Given the description of an element on the screen output the (x, y) to click on. 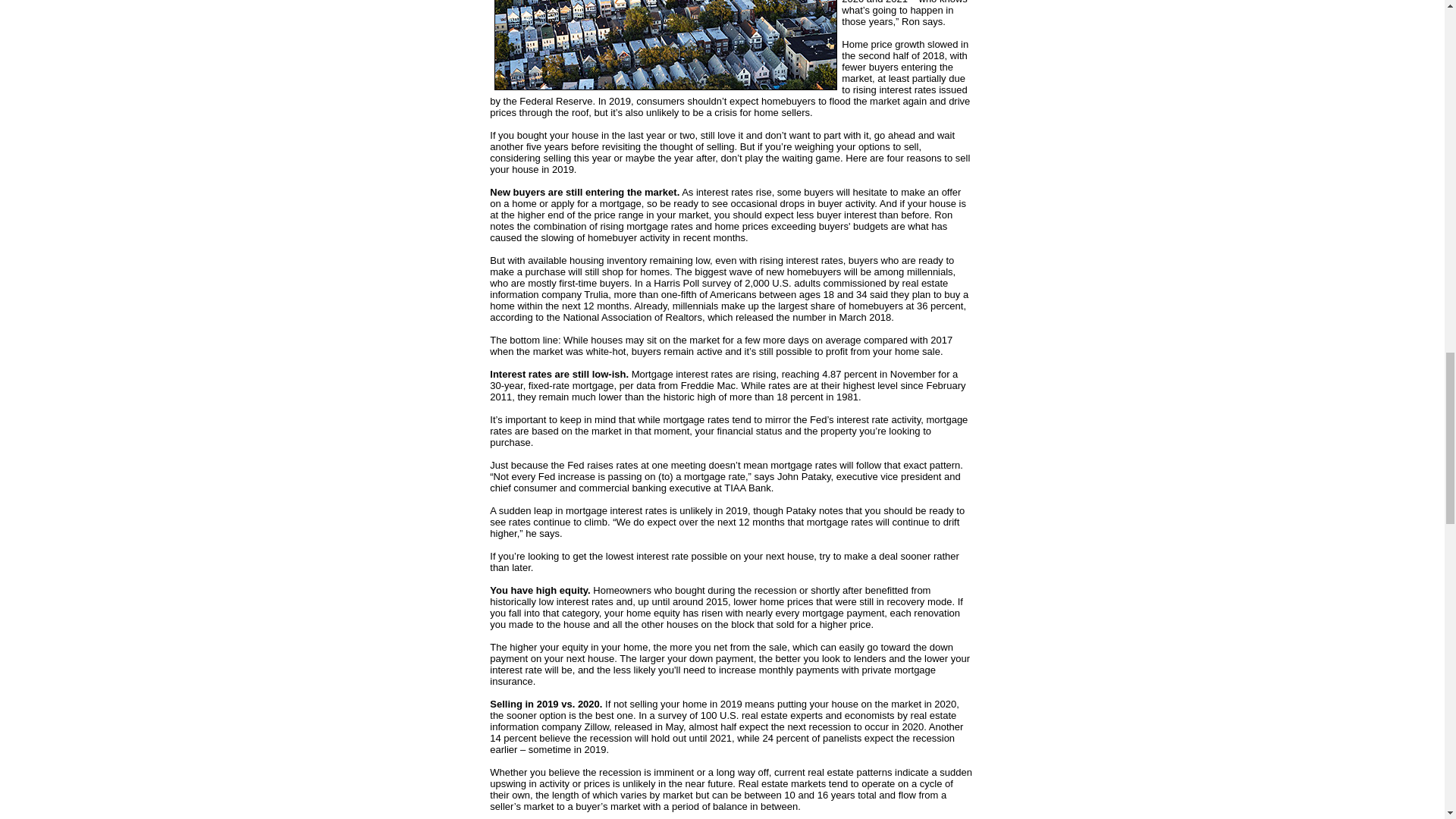
Houses (666, 45)
